Given the description of an element on the screen output the (x, y) to click on. 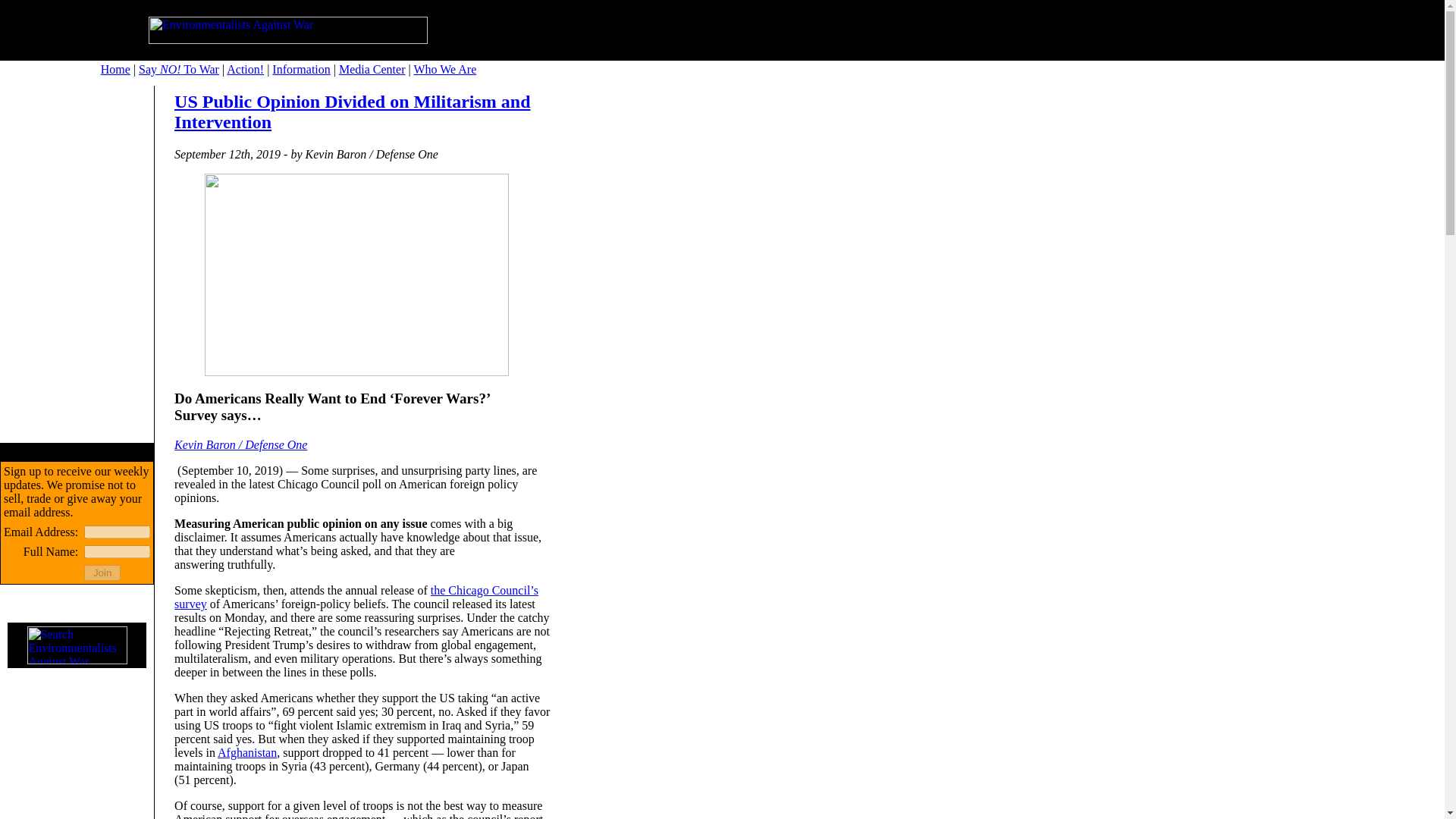
US Public Opinion Divided on Militarism and Intervention (351, 111)
Afghanistan (246, 752)
Action! (245, 69)
Say NO! To War (178, 69)
Who We Are (444, 69)
Media Center (372, 69)
Information (301, 69)
 Join  (102, 572)
Home (115, 69)
 Join  (102, 572)
